Given the description of an element on the screen output the (x, y) to click on. 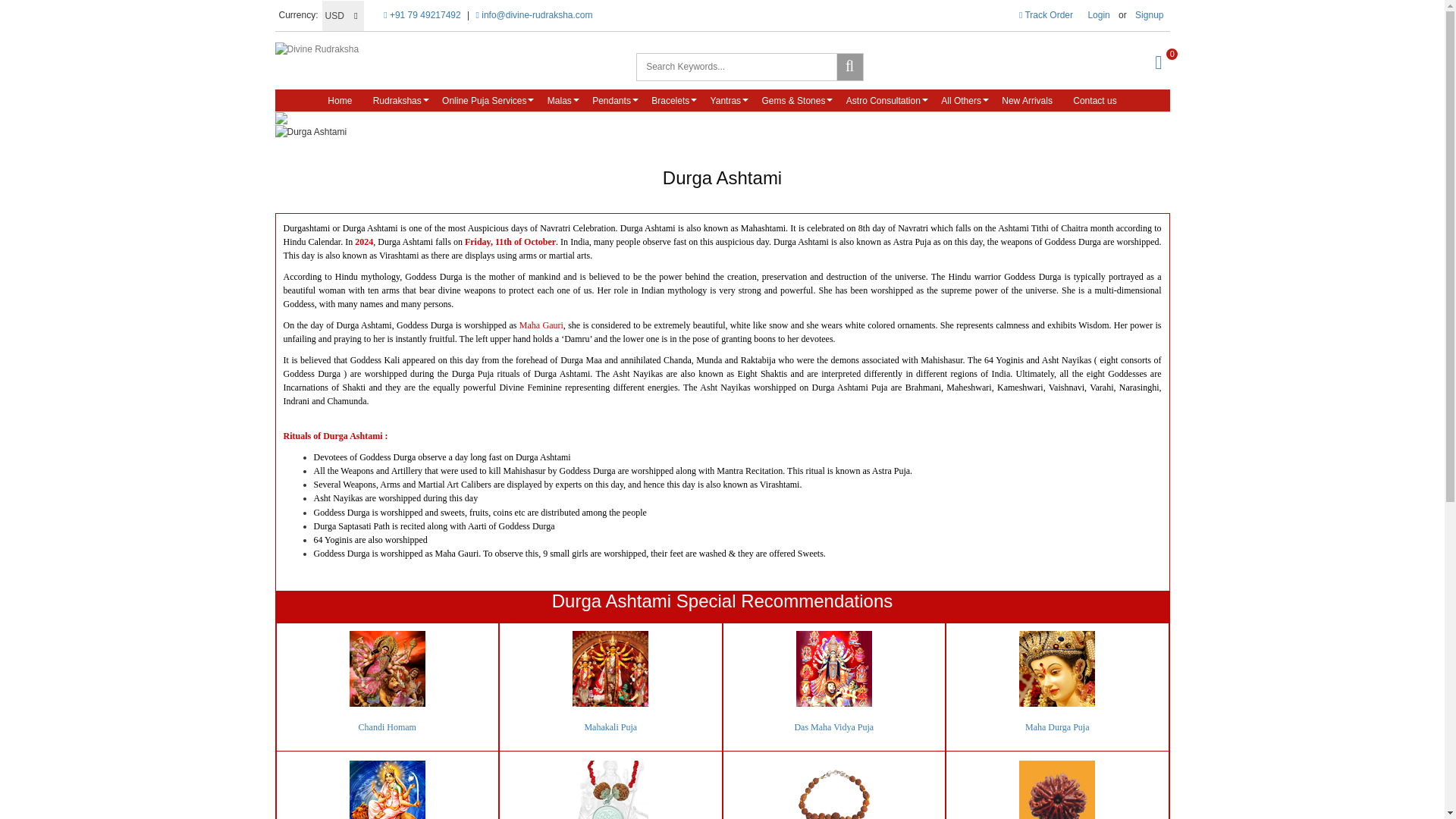
Home (416, 49)
0 (1157, 61)
Login (1098, 15)
Signup (1149, 15)
Track Order (1045, 15)
Rudrakshas (397, 100)
Shopping Bag (1157, 61)
Home (339, 100)
